Given the description of an element on the screen output the (x, y) to click on. 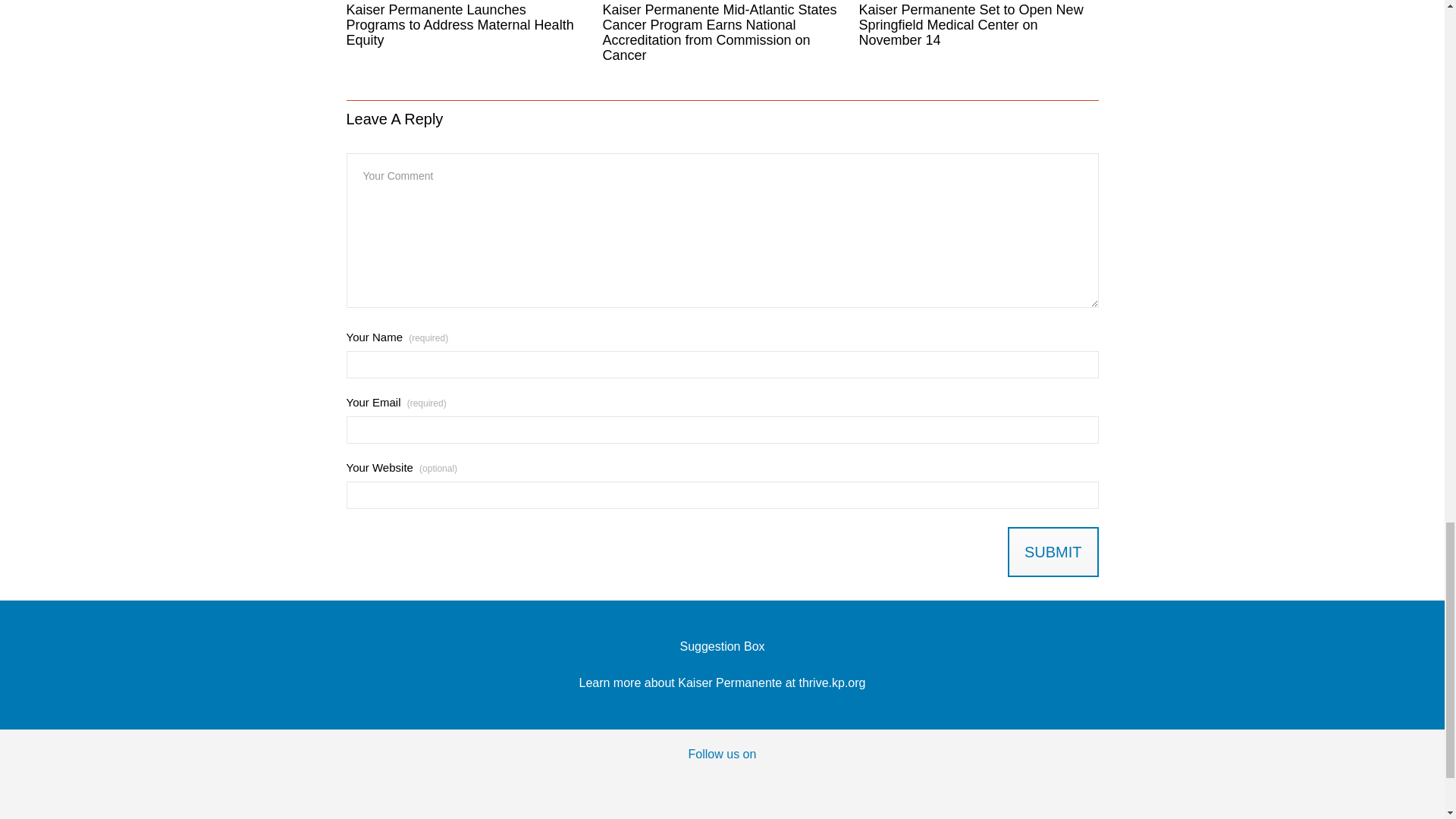
Facebook (629, 783)
Linkdin (815, 783)
Youtube (753, 783)
Learn more about Kaiser Permanente at thrive.kp.org (722, 682)
Submit (1053, 552)
Submit (1053, 552)
Suggestion Box (721, 645)
